Given the description of an element on the screen output the (x, y) to click on. 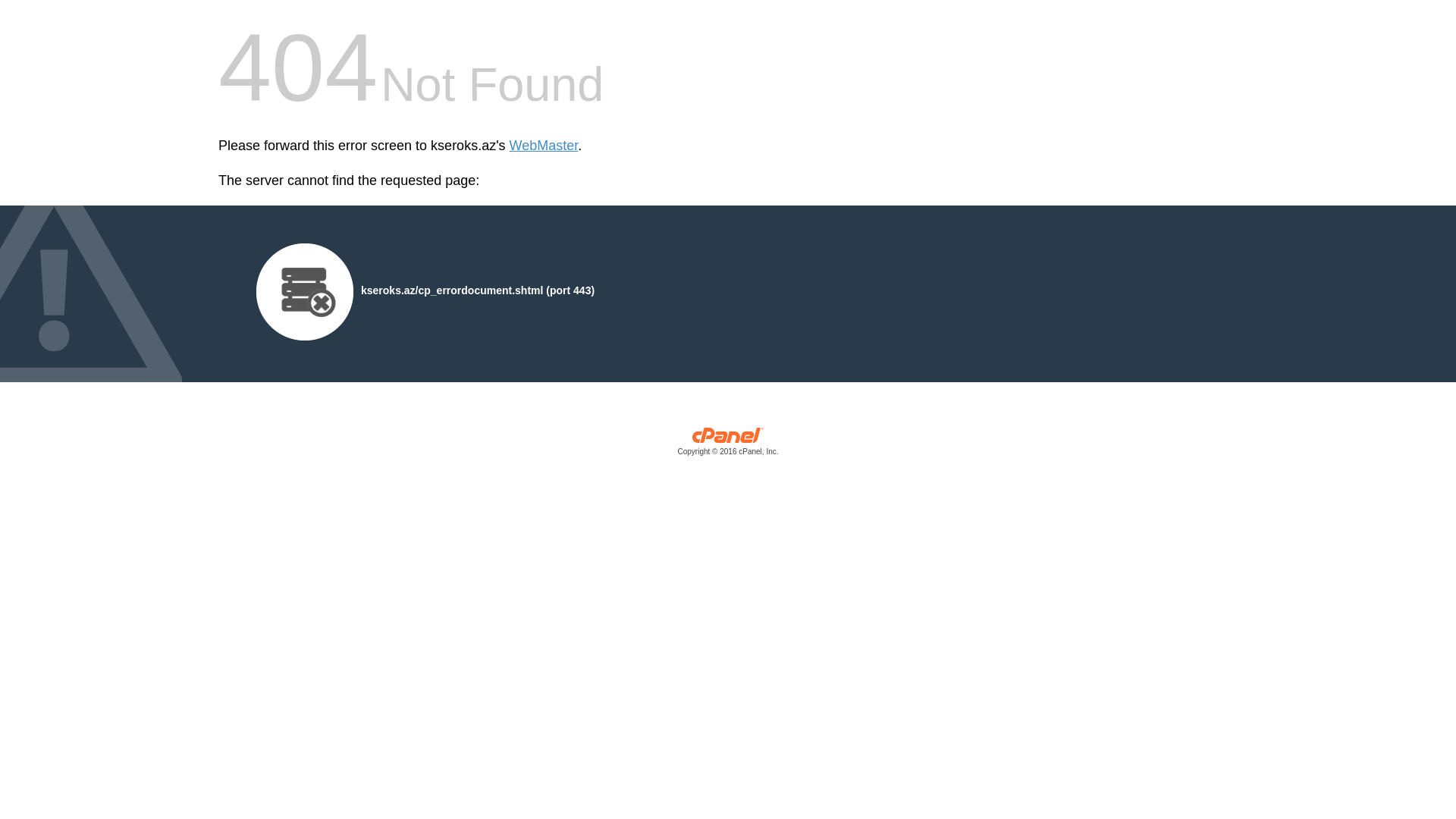
WebMaster Element type: text (543, 145)
